Given the description of an element on the screen output the (x, y) to click on. 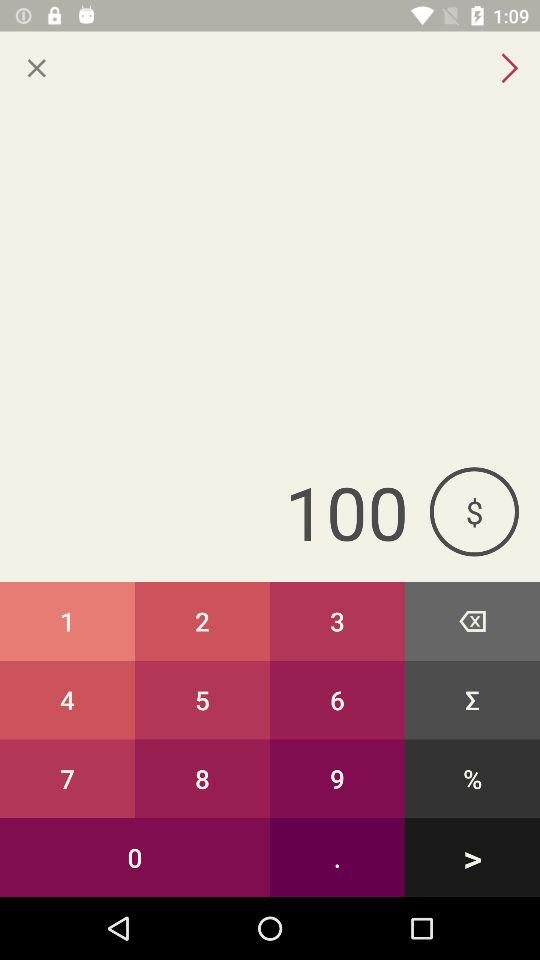
select the button next to 3 (202, 699)
